Given the description of an element on the screen output the (x, y) to click on. 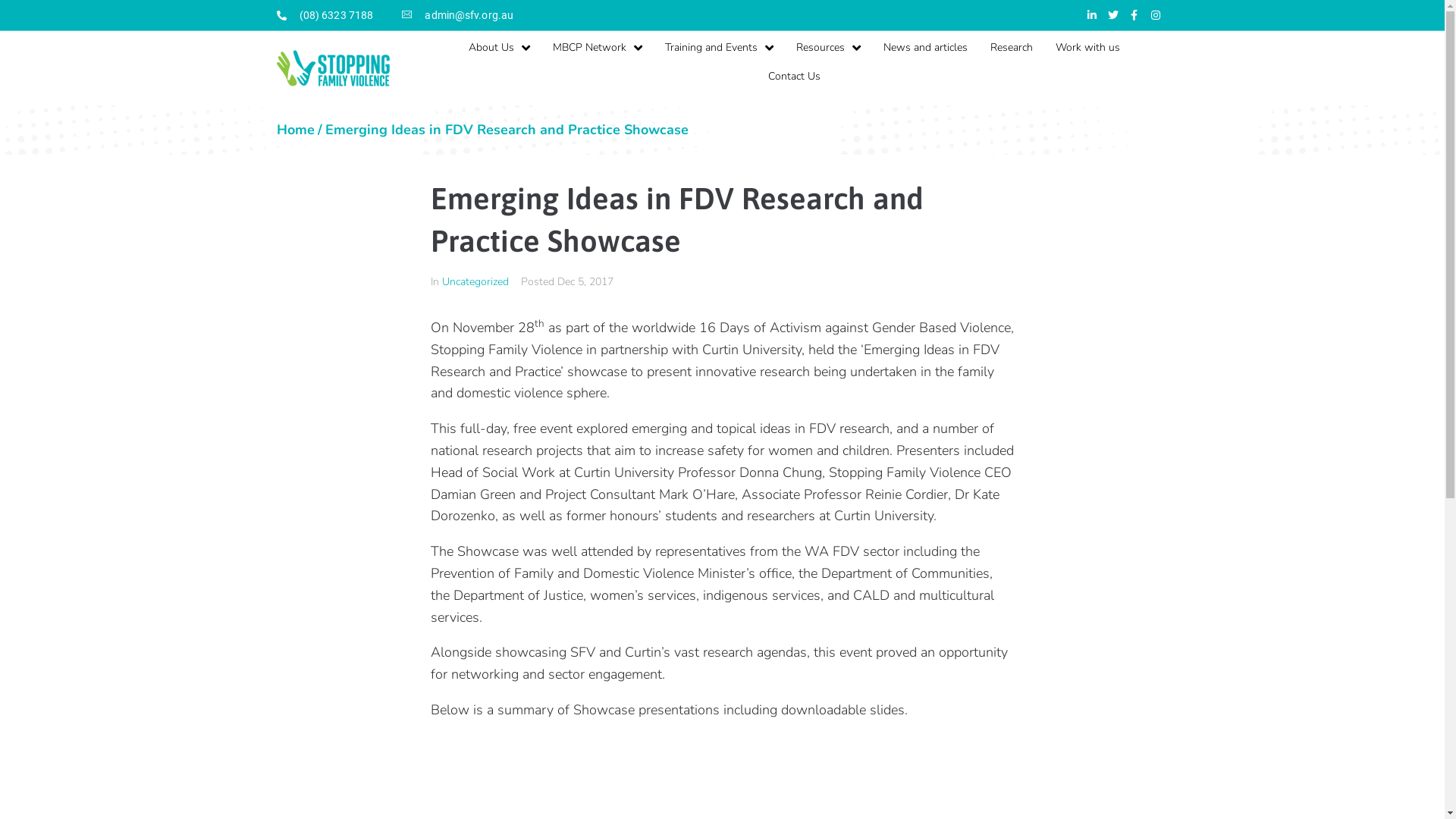
Contact Us Element type: text (793, 76)
About Us Element type: text (499, 47)
MBCP Network Element type: text (597, 47)
News and articles Element type: text (925, 47)
Uncategorized Element type: text (474, 281)
Resources Element type: text (828, 47)
Home Element type: text (294, 130)
Training and Events Element type: text (718, 47)
Research Element type: text (1011, 47)
Work with us Element type: text (1087, 47)
